Given the description of an element on the screen output the (x, y) to click on. 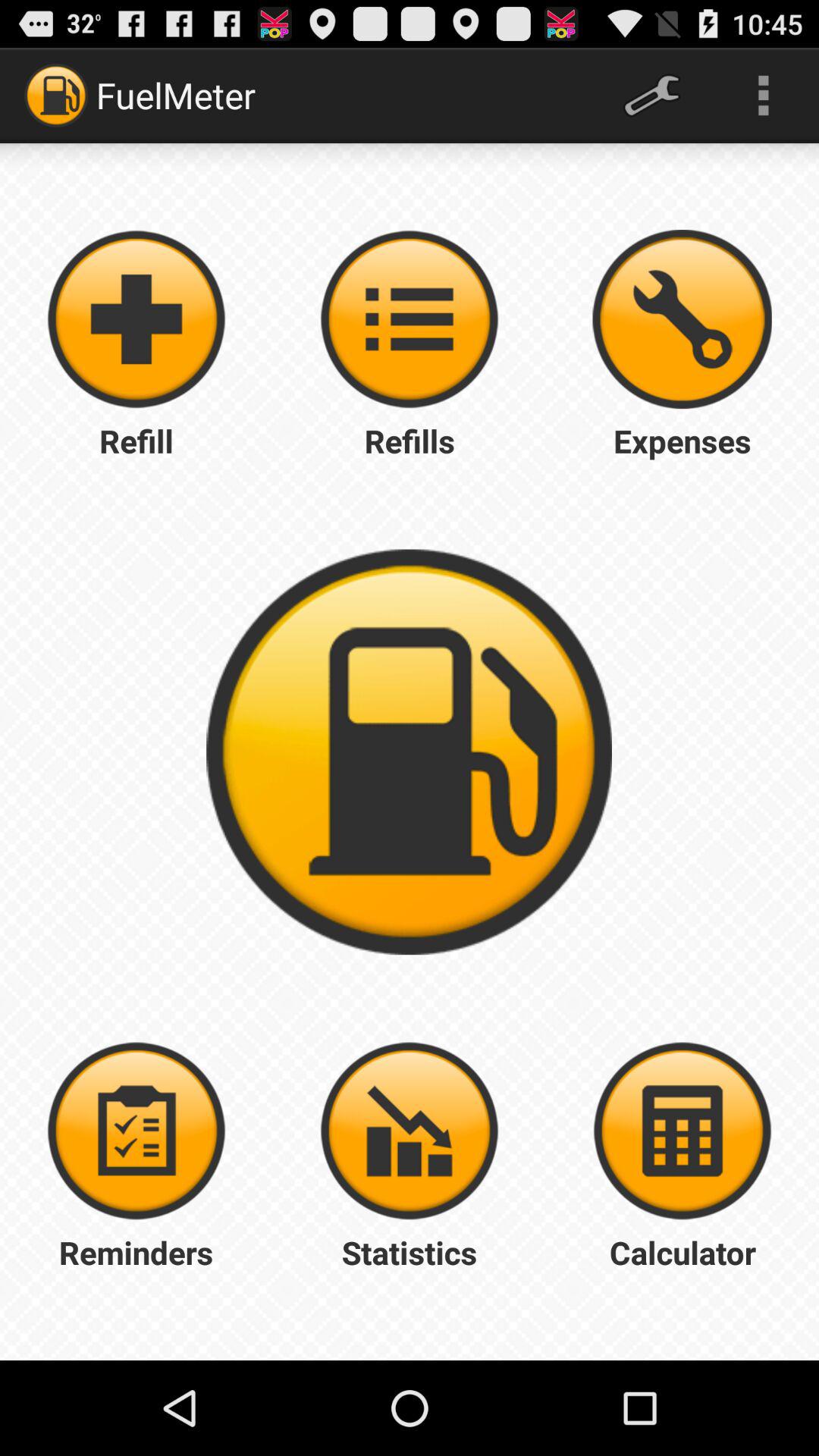
tap the app above the reminders item (136, 1130)
